Given the description of an element on the screen output the (x, y) to click on. 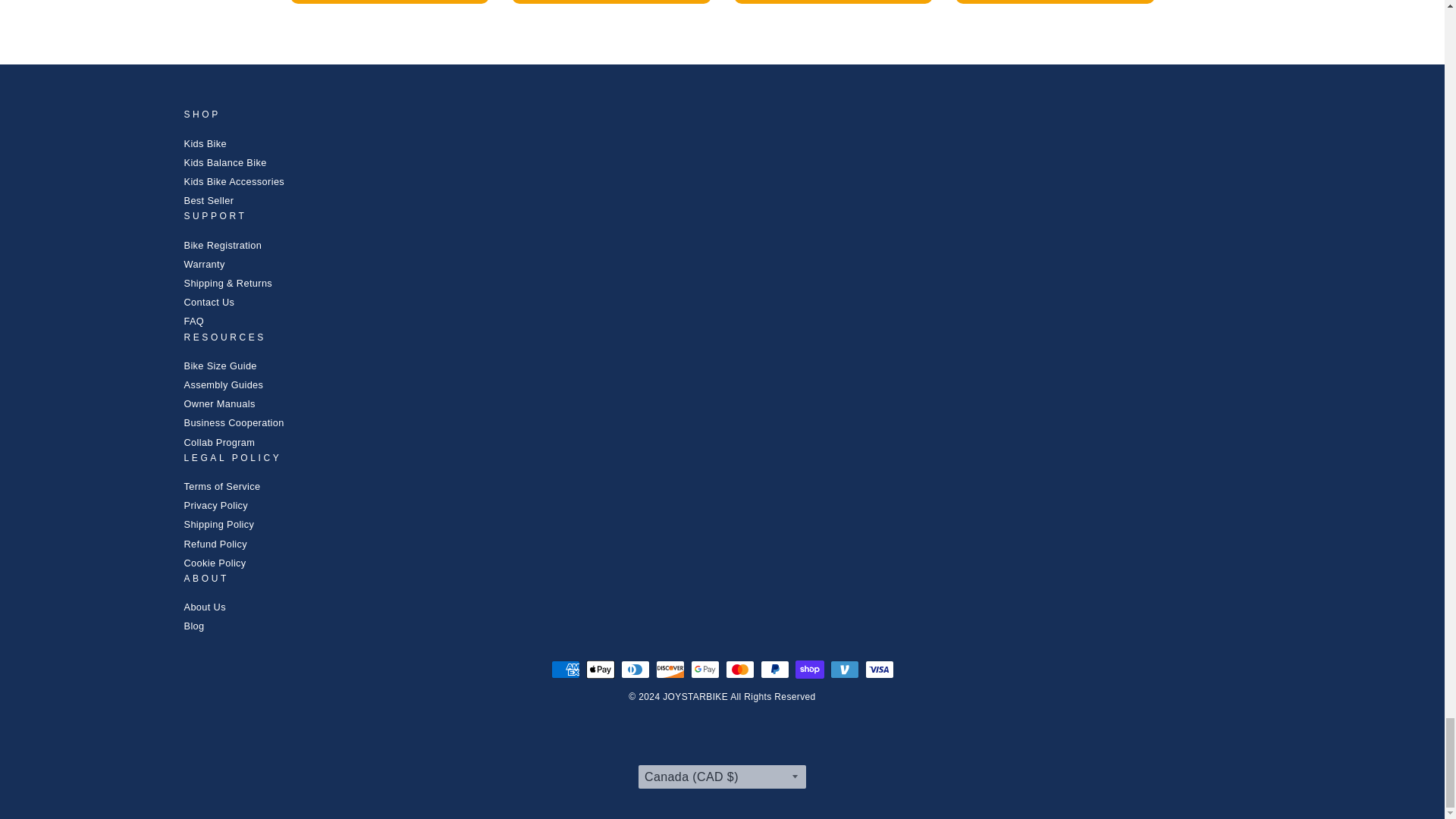
Apple Pay (599, 669)
American Express (564, 669)
Mastercard (739, 669)
Discover (669, 669)
PayPal (774, 669)
Shop Pay (809, 669)
Venmo (844, 669)
Google Pay (704, 669)
Visa (878, 669)
Diners Club (634, 669)
